Given the description of an element on the screen output the (x, y) to click on. 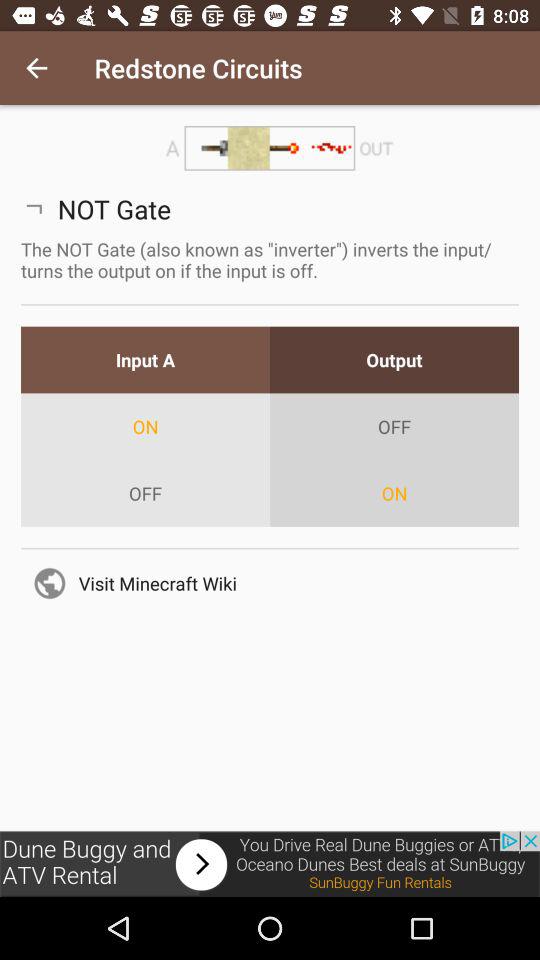
select the icon which is before visit minecraft wiki on page (49, 583)
